Given the description of an element on the screen output the (x, y) to click on. 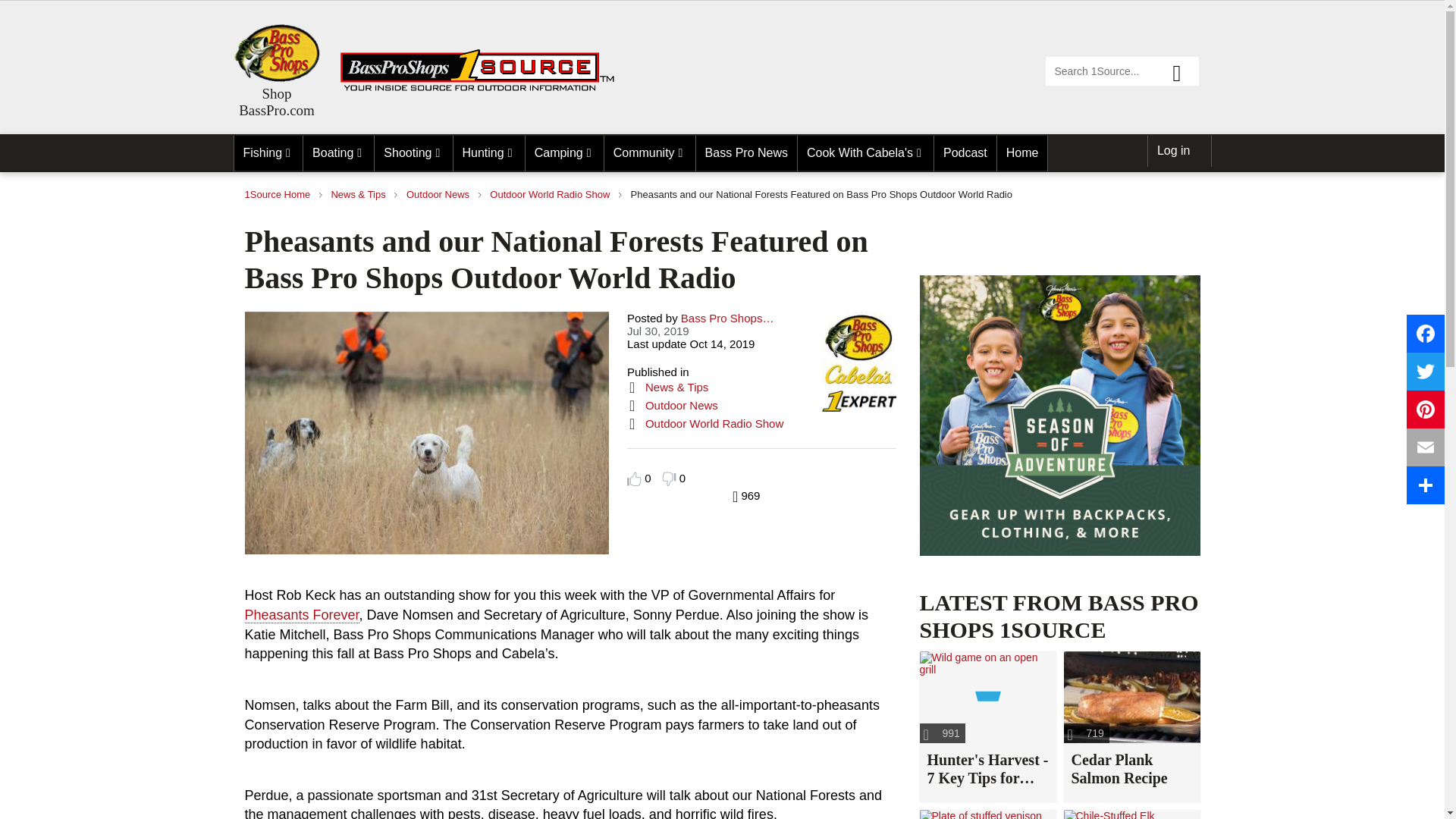
Fishing (268, 153)
Enter the terms you wish to search for. (1121, 70)
Shop BassPro.com (276, 52)
Shooting (413, 153)
Search (1183, 71)
Search (1183, 71)
Return to Bass Pro 1Source home (483, 88)
Shop BassPro.com (276, 101)
